Given the description of an element on the screen output the (x, y) to click on. 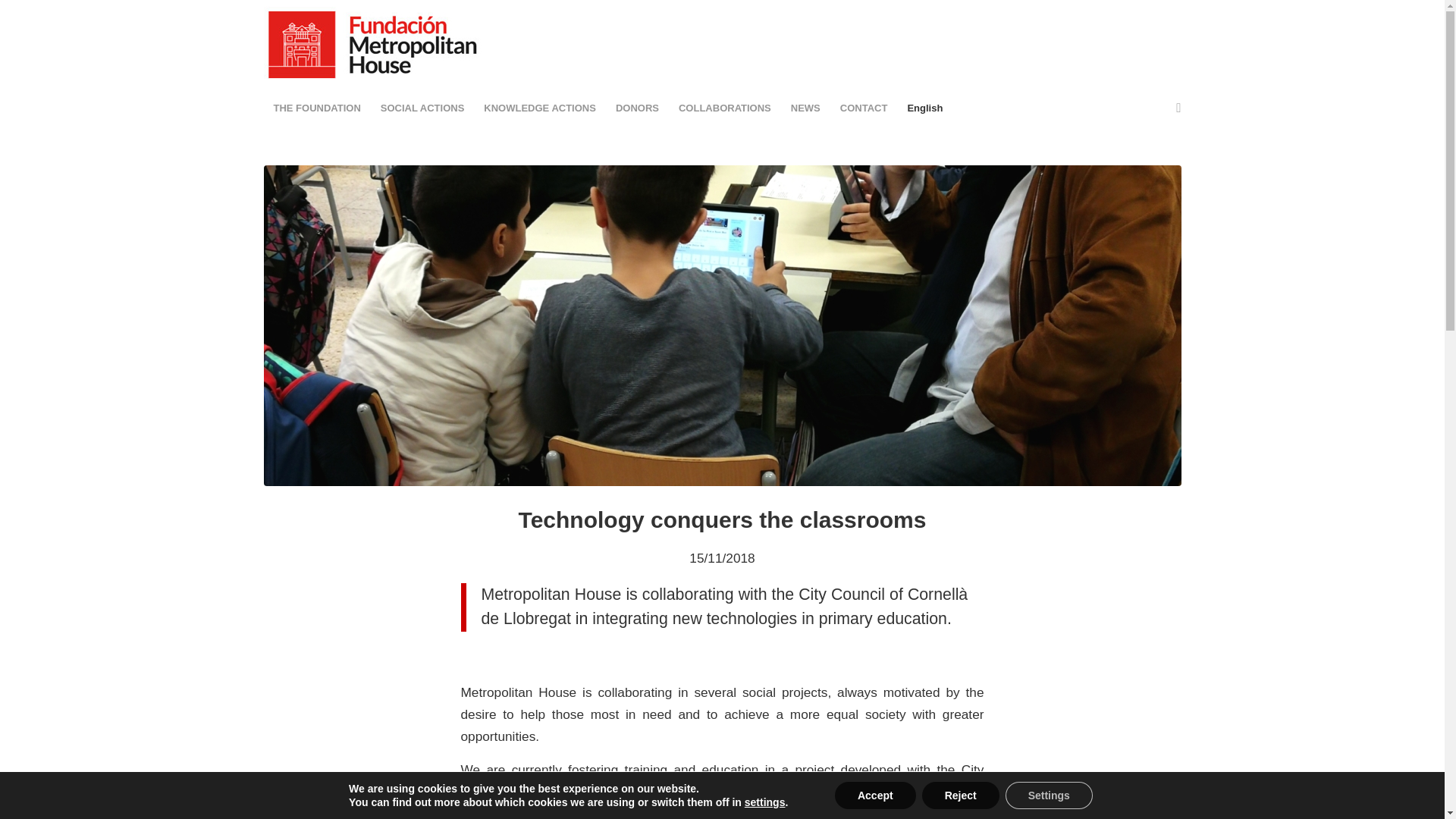
COLLABORATIONS (724, 108)
Permanent Link: Technology conquers the classrooms (722, 519)
NEWS (804, 108)
Reject (959, 795)
Settings (1049, 795)
English (924, 108)
SOCIAL ACTIONS (422, 108)
CONTACT (863, 108)
DONORS (636, 108)
Accept (874, 795)
Technology conquers the classrooms (722, 519)
THE FOUNDATION (317, 108)
KNOWLEDGE ACTIONS (539, 108)
settings (765, 802)
